Given the description of an element on the screen output the (x, y) to click on. 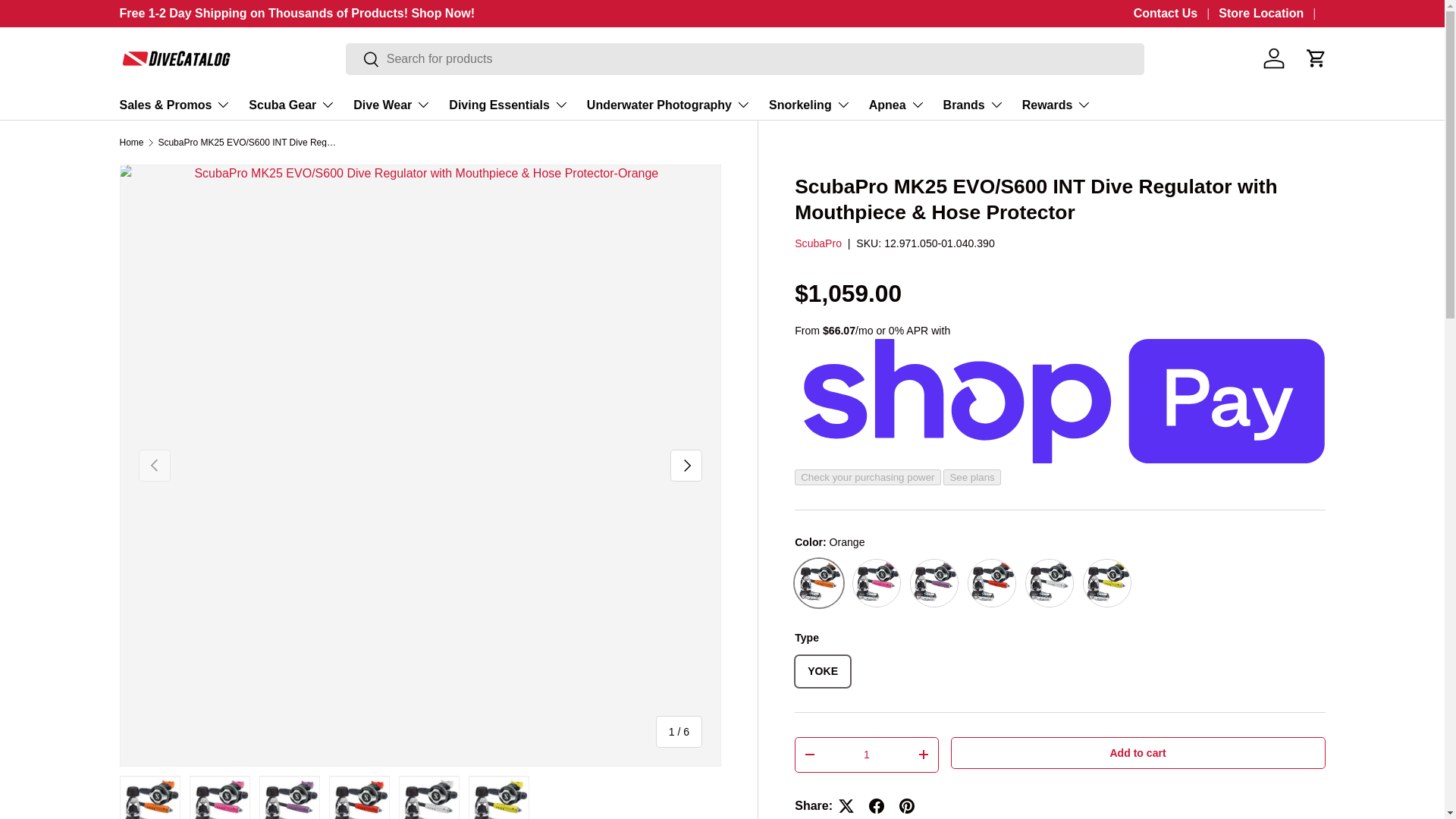
Scuba Gear (291, 104)
Contact Us (1177, 13)
Skip to content (68, 21)
Log in (1273, 58)
Store Location (1271, 13)
Share on Facebook (876, 805)
Search (363, 59)
Pin on Pinterest (906, 805)
Cart (1316, 58)
